Given the description of an element on the screen output the (x, y) to click on. 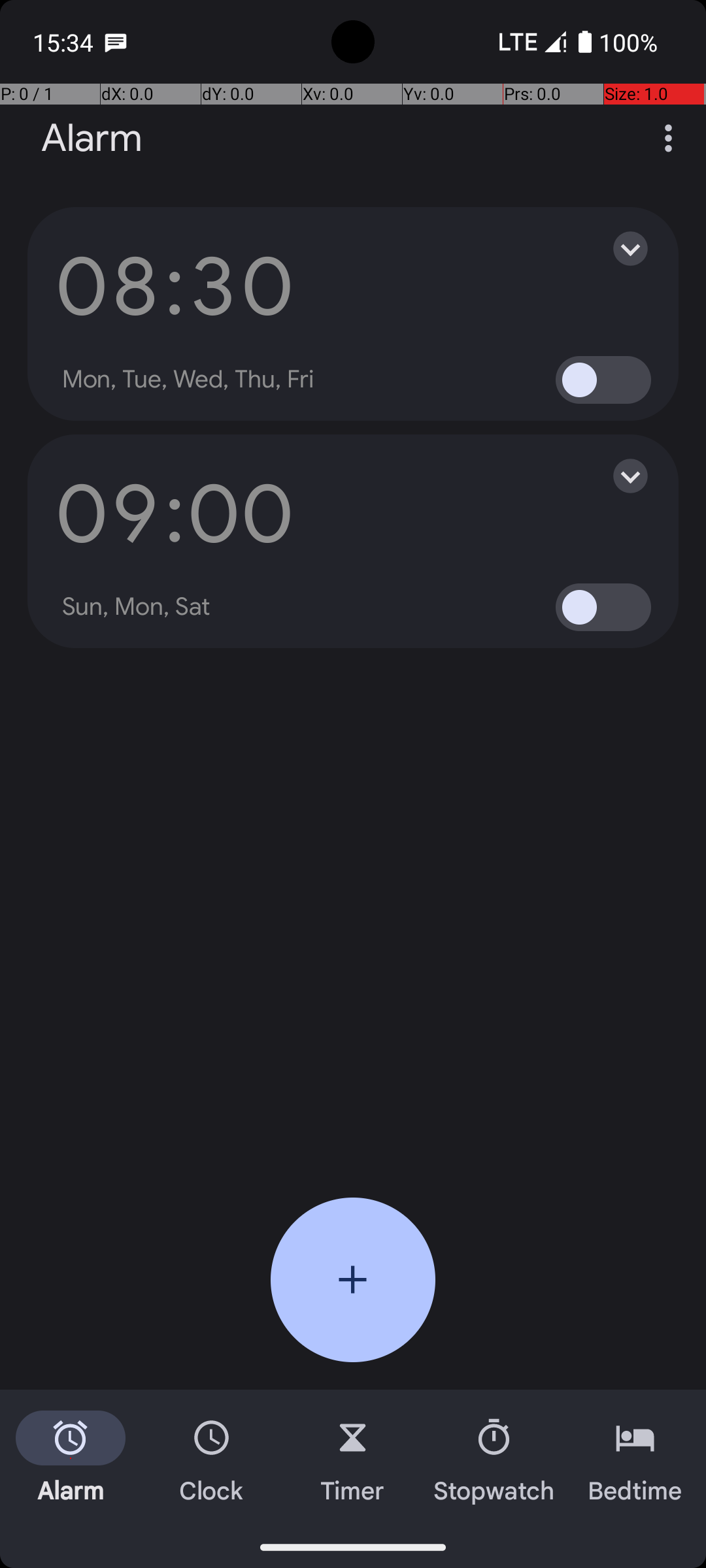
Mon, Tue, Wed, Thu, Fri Element type: android.widget.TextView (187, 379)
Sun, Mon, Sat Element type: android.widget.TextView (136, 606)
